Given the description of an element on the screen output the (x, y) to click on. 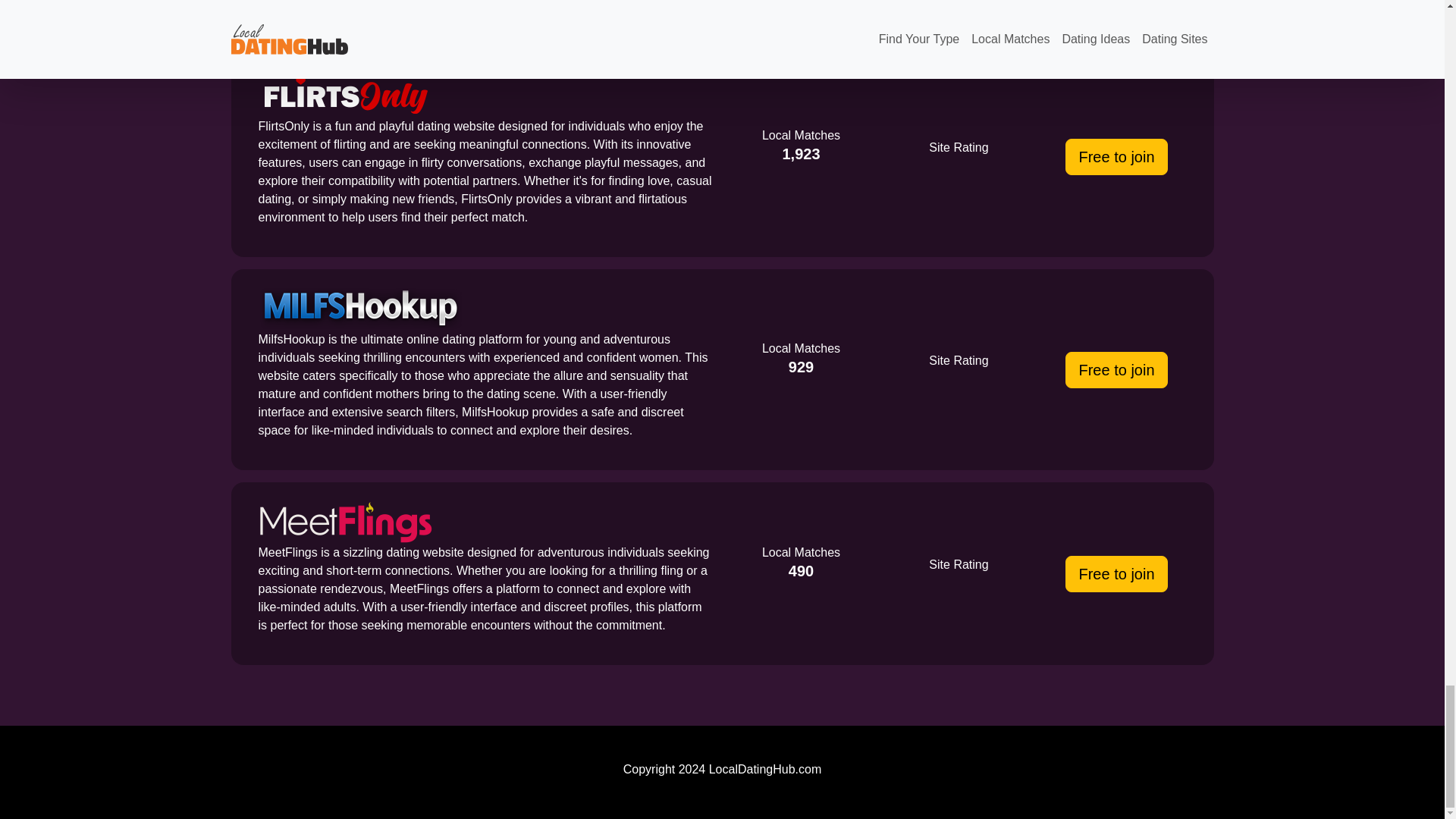
4 (957, 147)
MilfsHookup (359, 308)
Free to join (1116, 156)
4 (957, 361)
Free to join (1116, 574)
3.5 (957, 565)
FlirtsOnly (344, 95)
MeetFlings (344, 521)
Free to join (1116, 370)
